Given the description of an element on the screen output the (x, y) to click on. 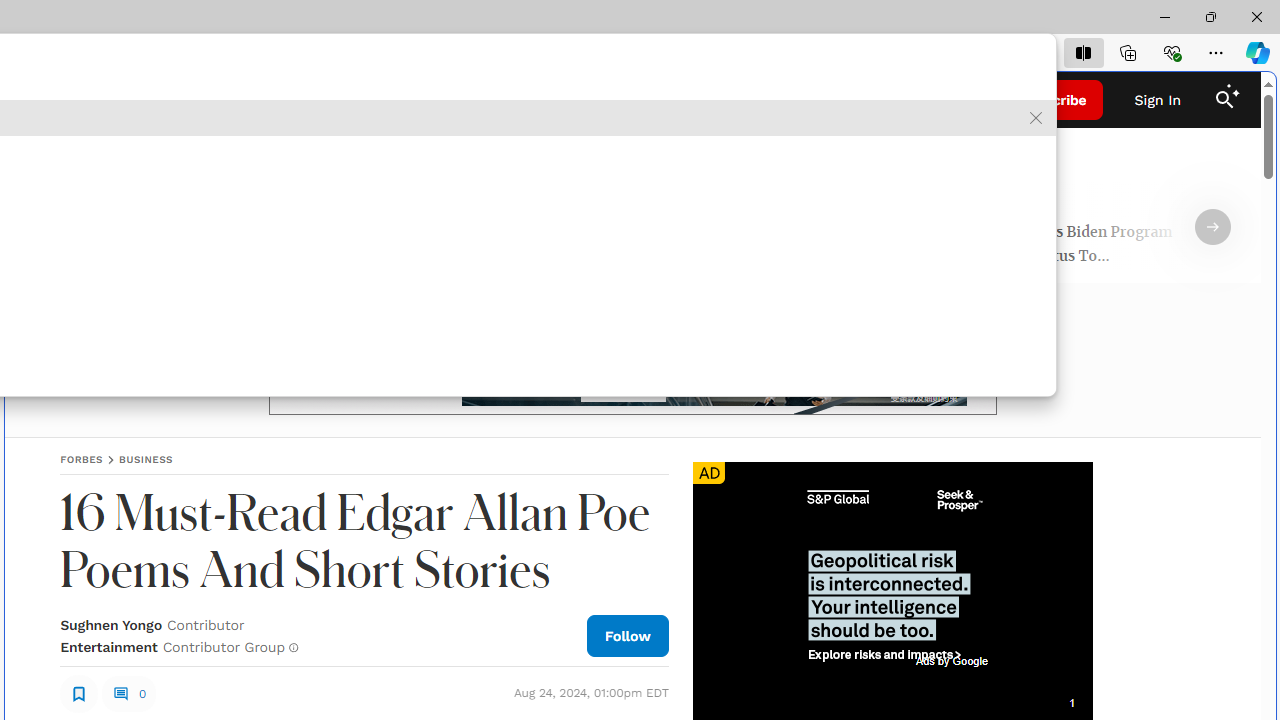
FORBES (81, 459)
Class: fs-icon fs-icon--comment (120, 693)
Class: sparkles_svg__fs-icon sparkles_svg__fs-icon--sparkles (1233, 91)
Subscribe To Newsletters (173, 99)
Class: fs-icon fs-icon--arrow-right (1212, 227)
Subscribe (1053, 99)
Jack Smith Files New Indictment Against Trump In Jan. 6 Case (220, 245)
Class: search_svg__fs-icon search_svg__fs-icon--search (1224, 99)
Skip Ad Countdown (1071, 703)
